Given the description of an element on the screen output the (x, y) to click on. 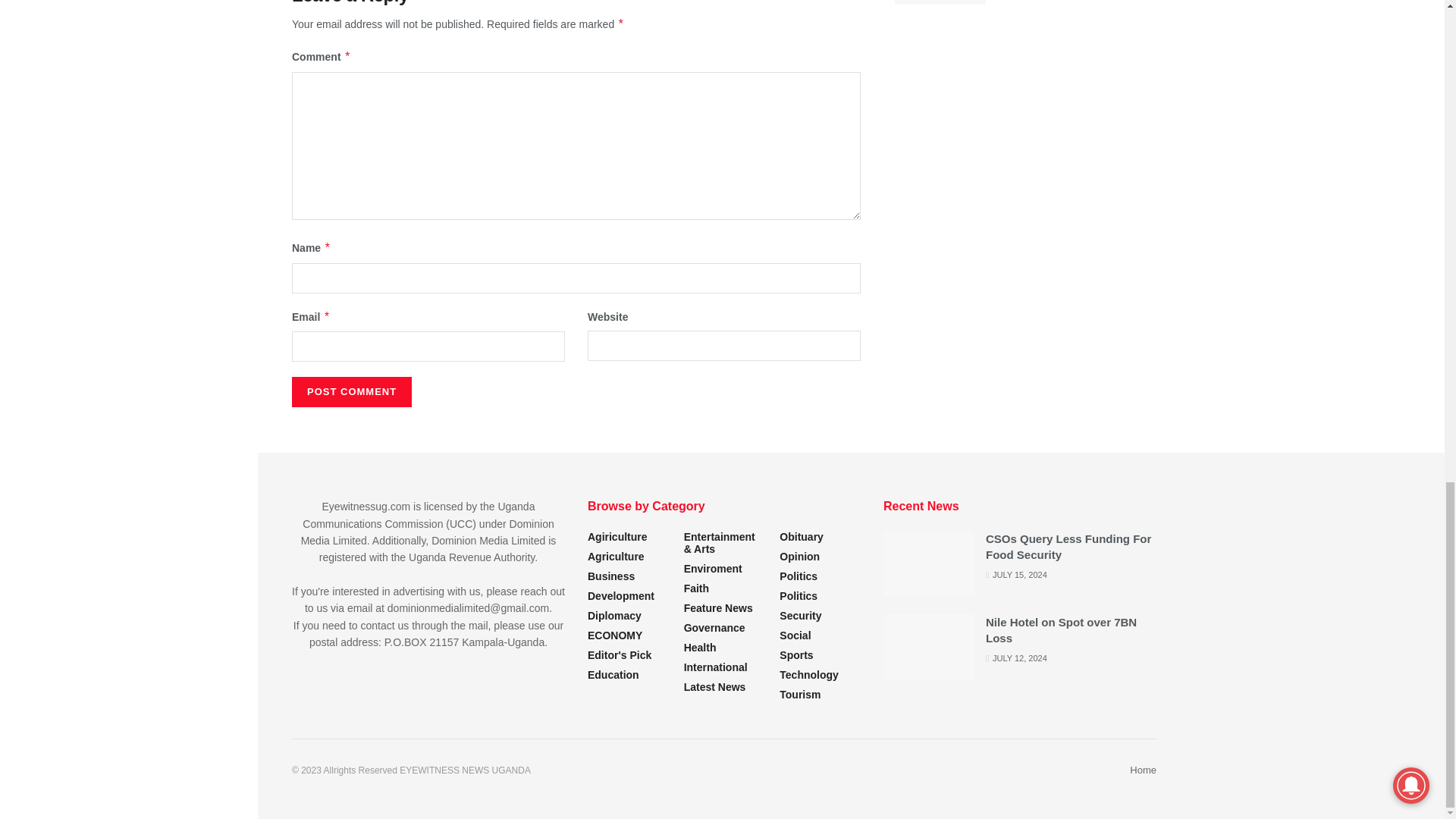
Post Comment (352, 391)
